Given the description of an element on the screen output the (x, y) to click on. 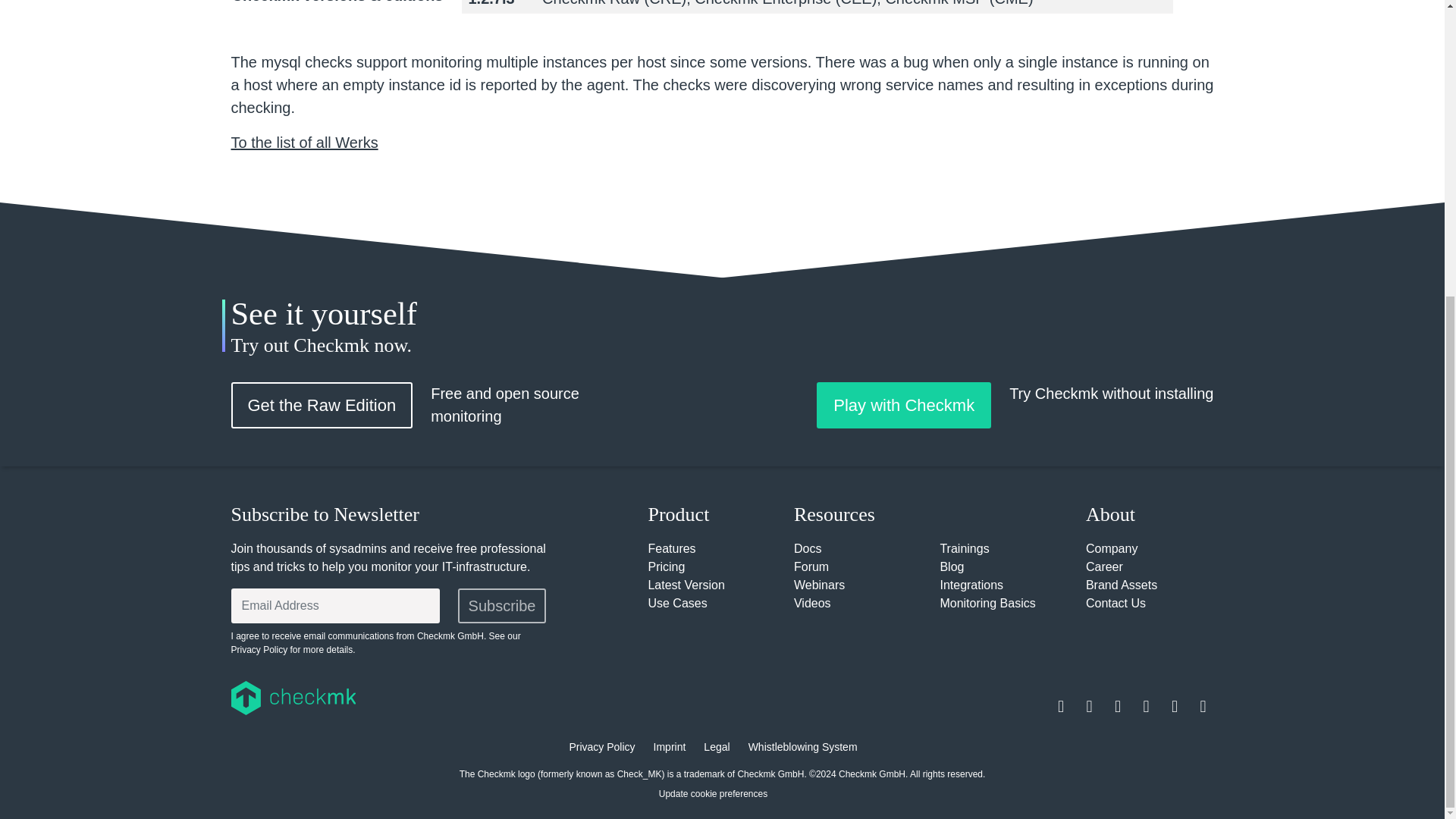
Checkmk (380, 697)
